Given the description of an element on the screen output the (x, y) to click on. 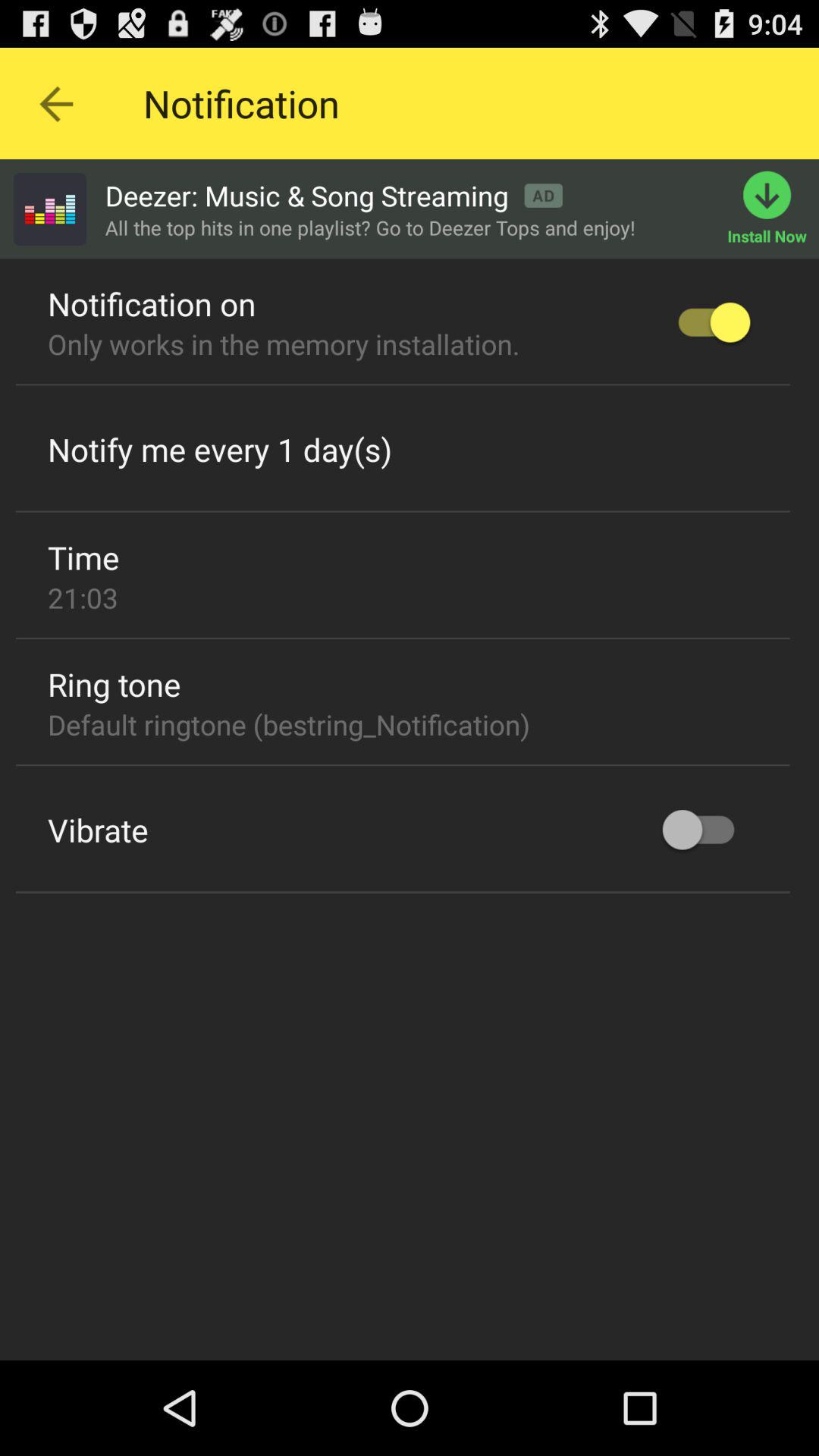
scroll to vibrate item (97, 829)
